Given the description of an element on the screen output the (x, y) to click on. 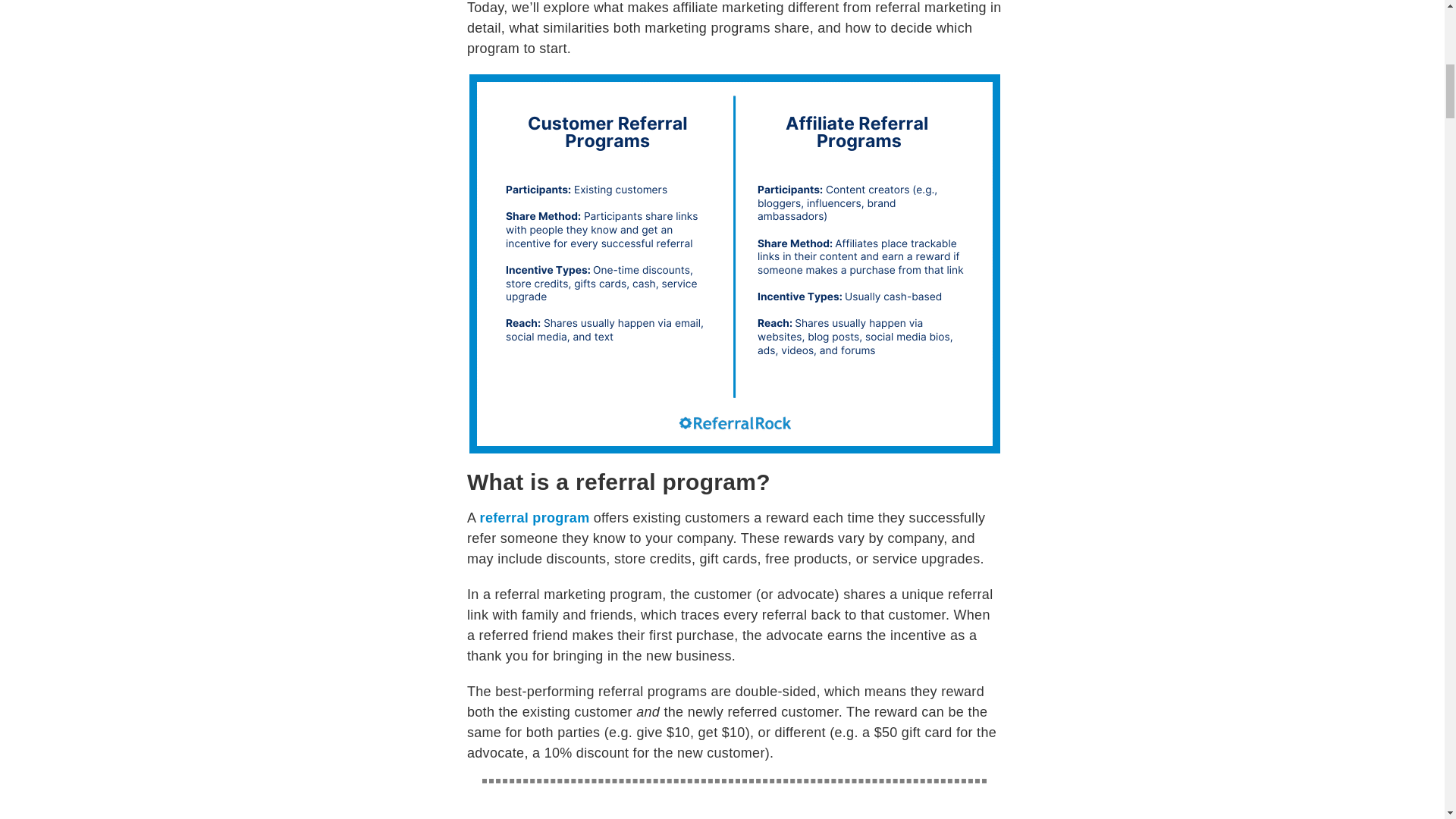
Affiliate Marketing Vs. Referral Marketing: How to Choose? 2 (734, 808)
